Given the description of an element on the screen output the (x, y) to click on. 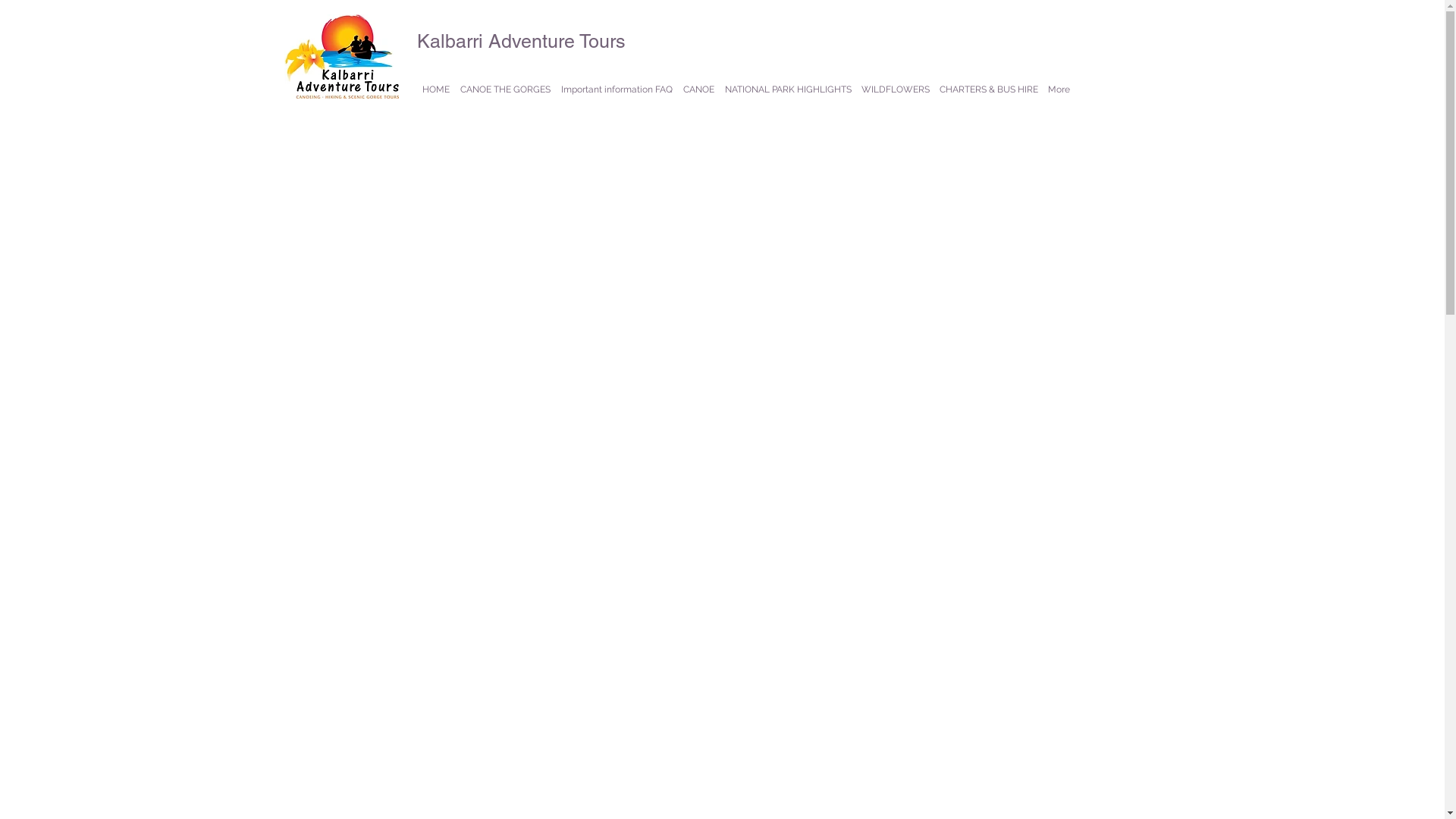
CANOE Element type: text (698, 89)
CHARTERS & BUS HIRE Element type: text (988, 89)
NATIONAL PARK HIGHLIGHTS Element type: text (787, 89)
CANOE THE GORGES Element type: text (505, 89)
HOME Element type: text (436, 89)
Important information FAQ Element type: text (616, 89)
WILDFLOWERS Element type: text (895, 89)
